Given the description of an element on the screen output the (x, y) to click on. 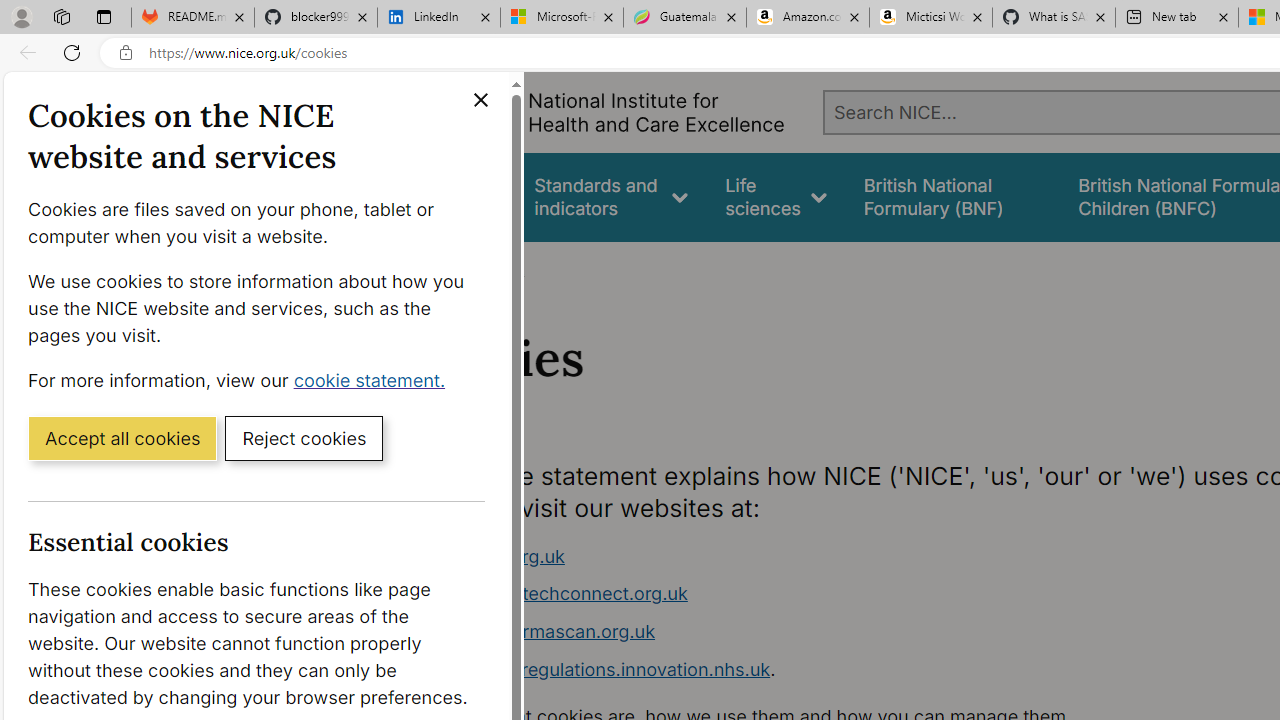
Microsoft-Report a Concern to Bing (561, 17)
Home> (433, 268)
Home (424, 268)
Close cookie banner (480, 99)
false (952, 196)
LinkedIn (438, 17)
www.ukpharmascan.org.uk (796, 632)
Life sciences (776, 196)
Close tab (1222, 16)
Accept all cookies (122, 437)
Reject cookies (304, 437)
